Given the description of an element on the screen output the (x, y) to click on. 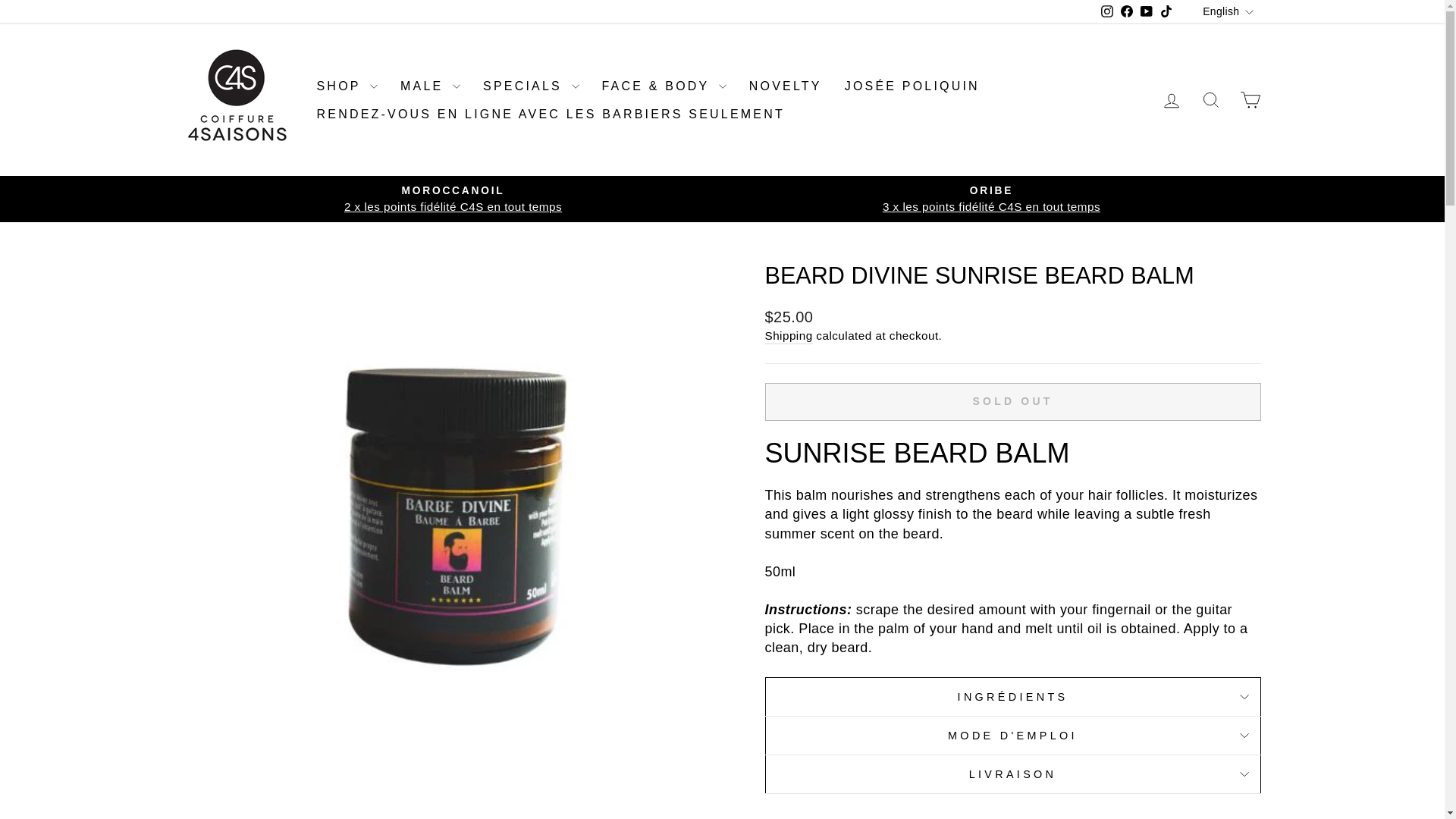
ACCOUNT (1170, 100)
Coiffurec4s on TikTok (1166, 11)
Page 1 (1012, 571)
Coiffurec4s on YouTube (1146, 11)
instagram (1106, 10)
Pin on Pinterest (1090, 817)
Share on Facebook (937, 817)
ICON-SEARCH (1210, 99)
Coiffurec4s on Instagram (1106, 11)
Coiffurec4s on Facebook (1126, 11)
Tweet on Twitter (1014, 817)
